Given the description of an element on the screen output the (x, y) to click on. 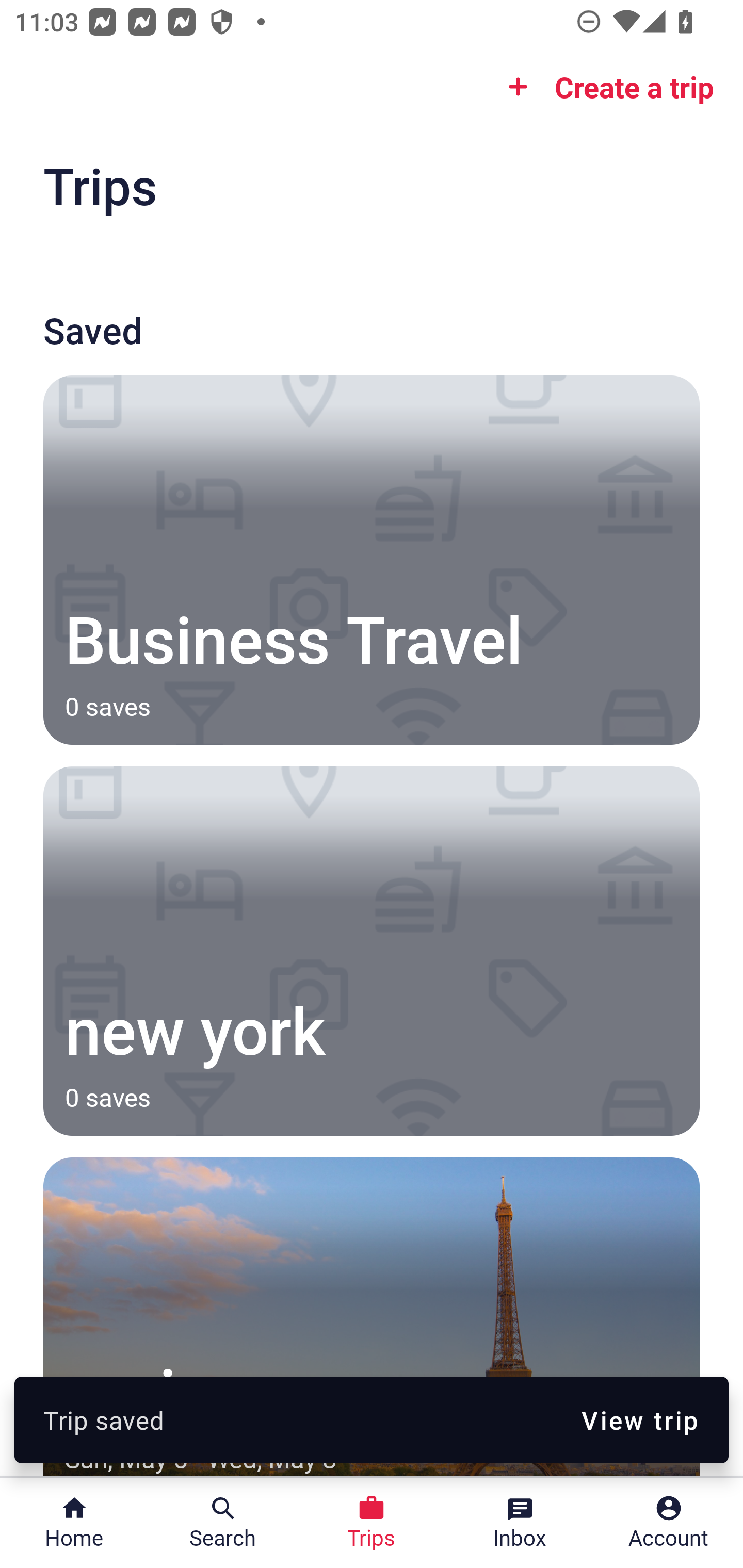
Create a trip Create a trip Button (605, 86)
new york. 0 saves.  Button new york 0 saves (371, 950)
View trip (640, 1419)
Home Home Button (74, 1522)
Search Search Button (222, 1522)
Inbox Inbox Button (519, 1522)
Account Profile. Button (668, 1522)
